Given the description of an element on the screen output the (x, y) to click on. 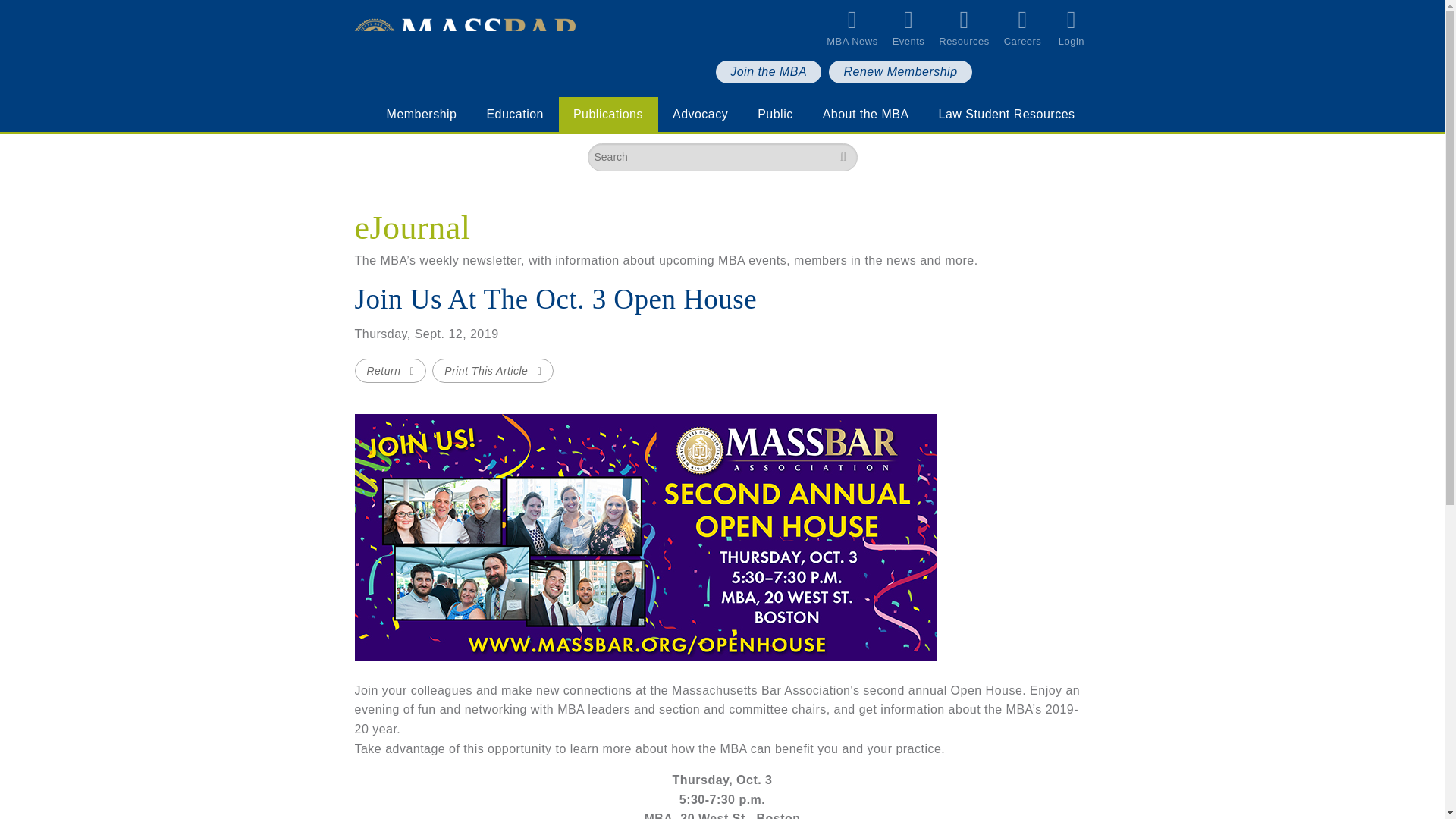
Careers (1030, 28)
Join the MBA (768, 71)
MBA News (859, 28)
Renew Membership (899, 71)
Resources (971, 28)
Membership (421, 114)
Education (514, 114)
